Given the description of an element on the screen output the (x, y) to click on. 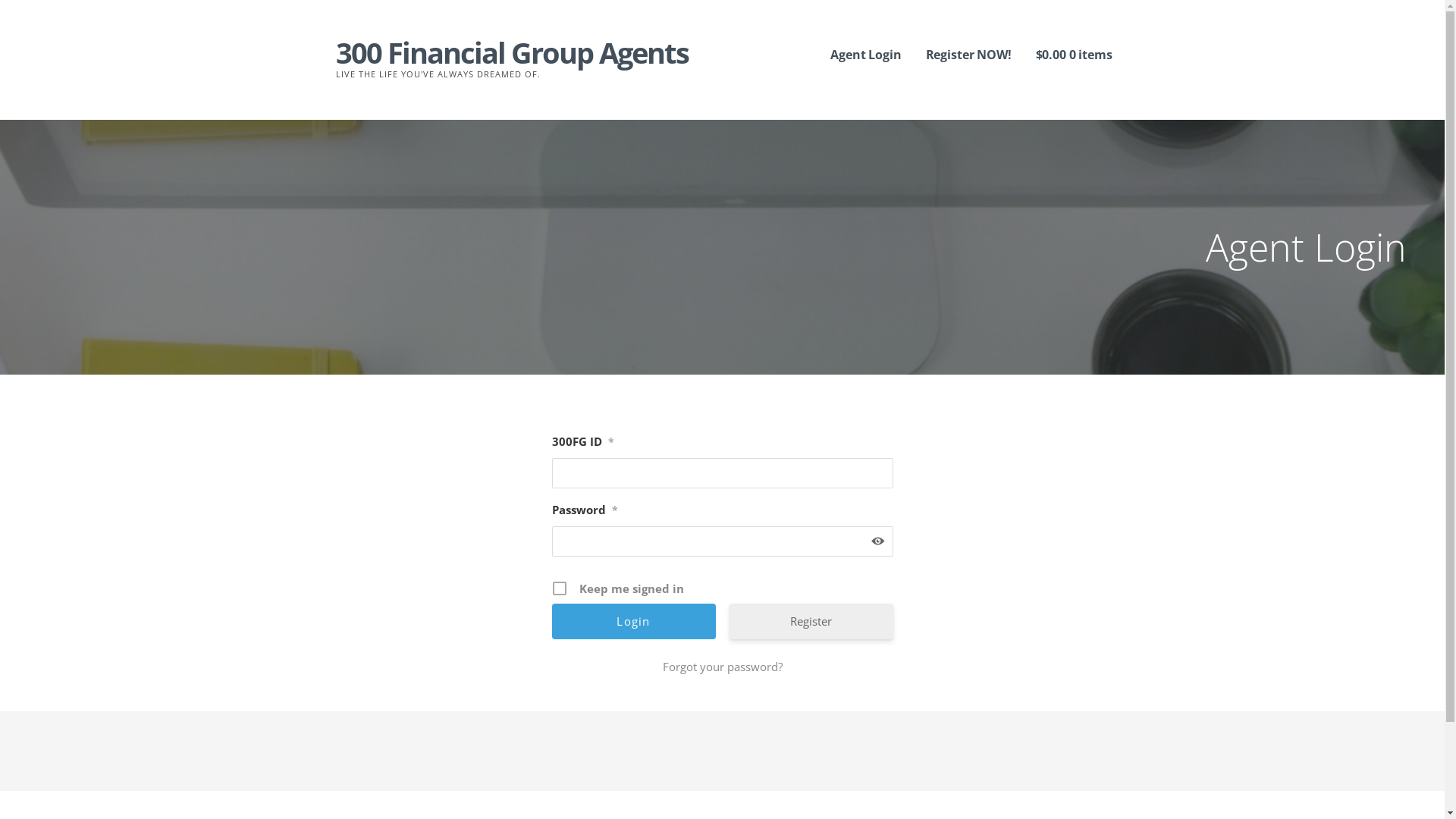
Register Element type: text (811, 621)
Agent Login Element type: text (865, 55)
$0.00 0 items Element type: text (1073, 55)
Forgot your password? Element type: text (722, 666)
Register NOW! Element type: text (968, 55)
Login Element type: text (633, 621)
300 Financial Group Agents Element type: text (511, 52)
